Given the description of an element on the screen output the (x, y) to click on. 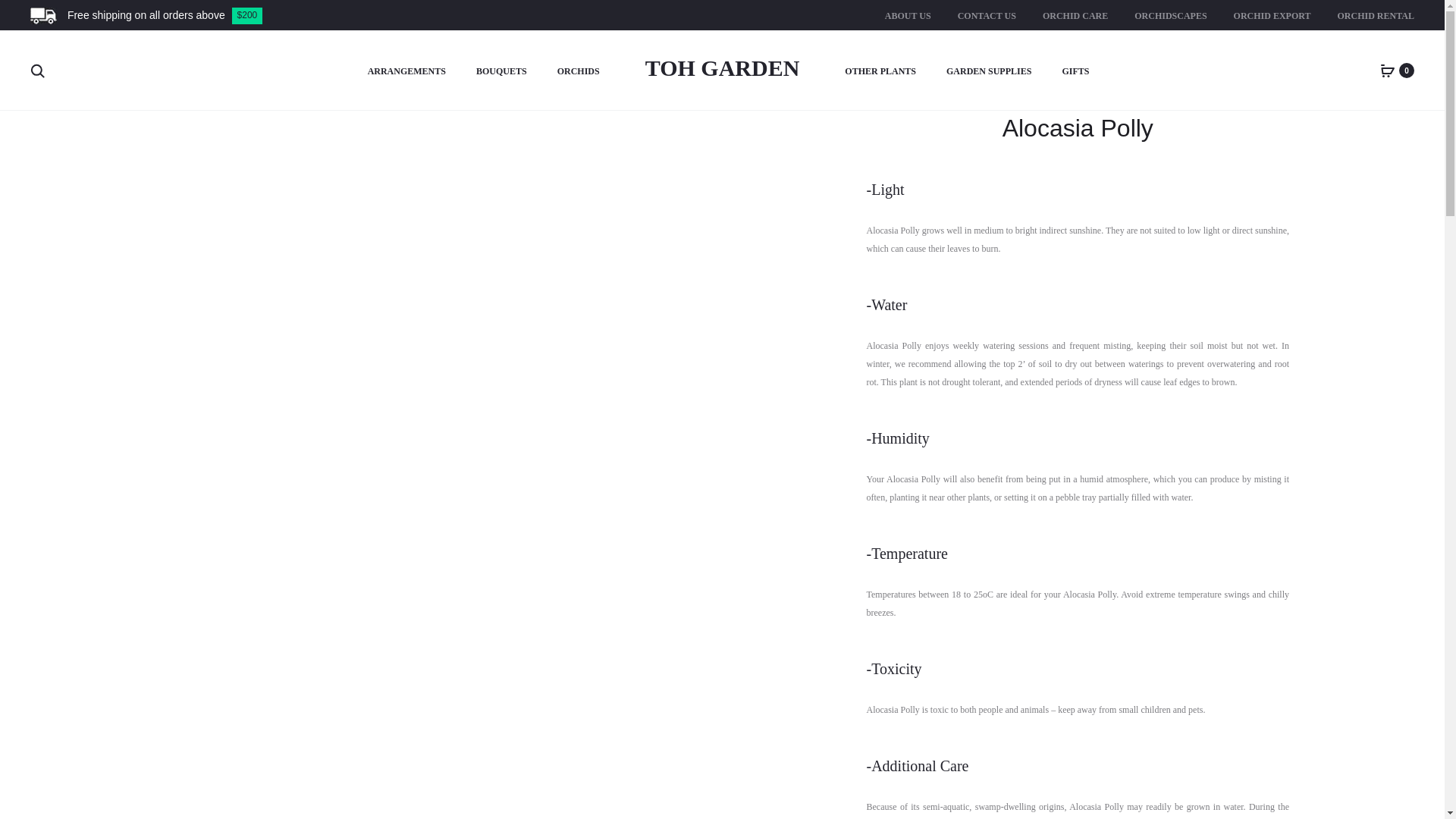
ORCHID EXPORT (1272, 16)
ABOUT US (908, 16)
ORCHID CARE (1075, 16)
BOUQUETS (501, 71)
CONTACT US (987, 16)
ORCHIDS (578, 71)
ORCHIDSCAPES (1170, 16)
Search (37, 69)
ARRANGEMENTS (406, 71)
ORCHID RENTAL (1375, 16)
